Given the description of an element on the screen output the (x, y) to click on. 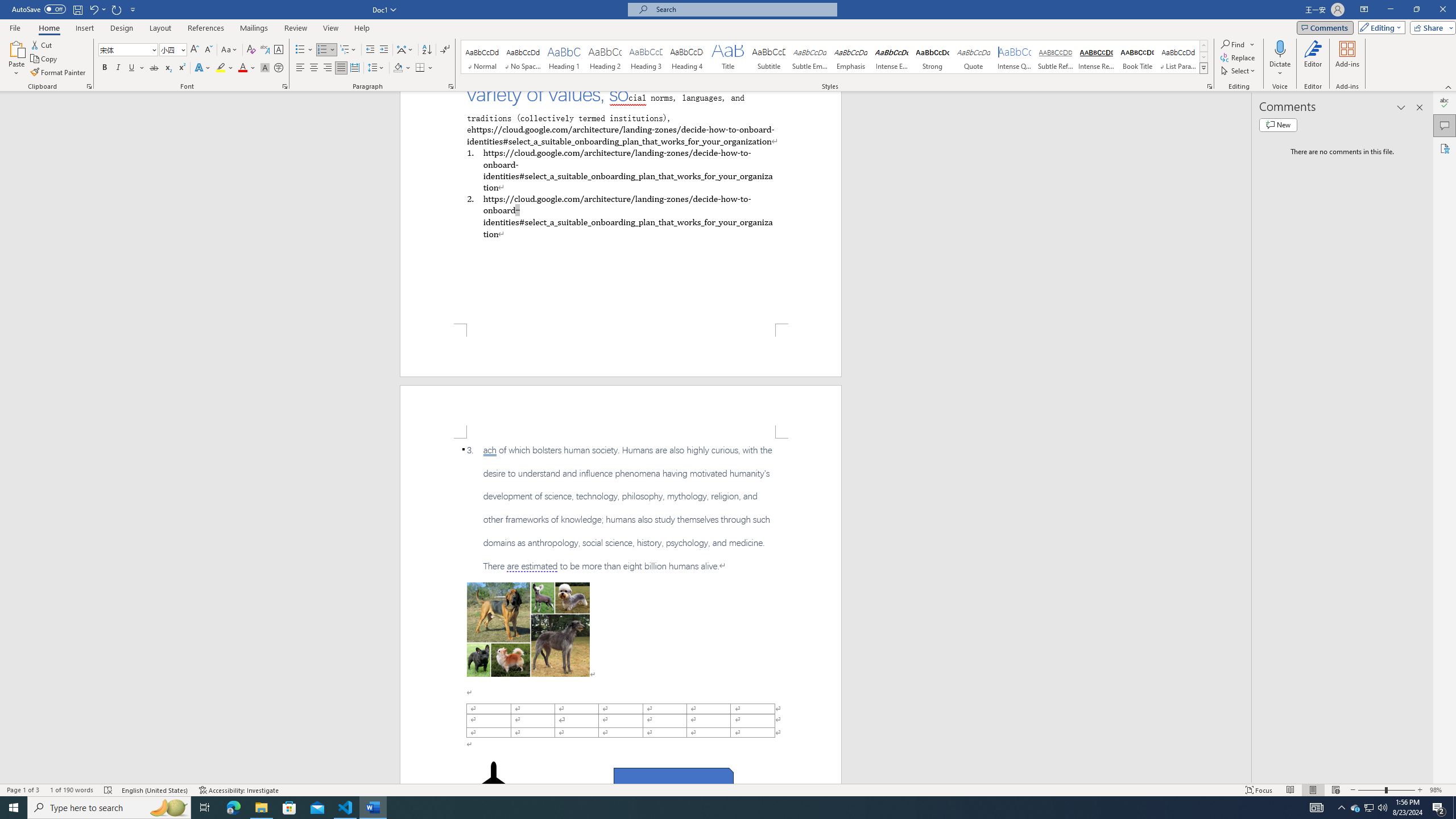
Open (182, 49)
Insert (83, 28)
Restore Down (1416, 9)
Numbering (322, 49)
Align Right (327, 67)
Header -Section 1- (620, 411)
1. (620, 169)
Font (128, 49)
References (205, 28)
2. (620, 216)
Heading 3 (646, 56)
Dictate (1280, 48)
